Given the description of an element on the screen output the (x, y) to click on. 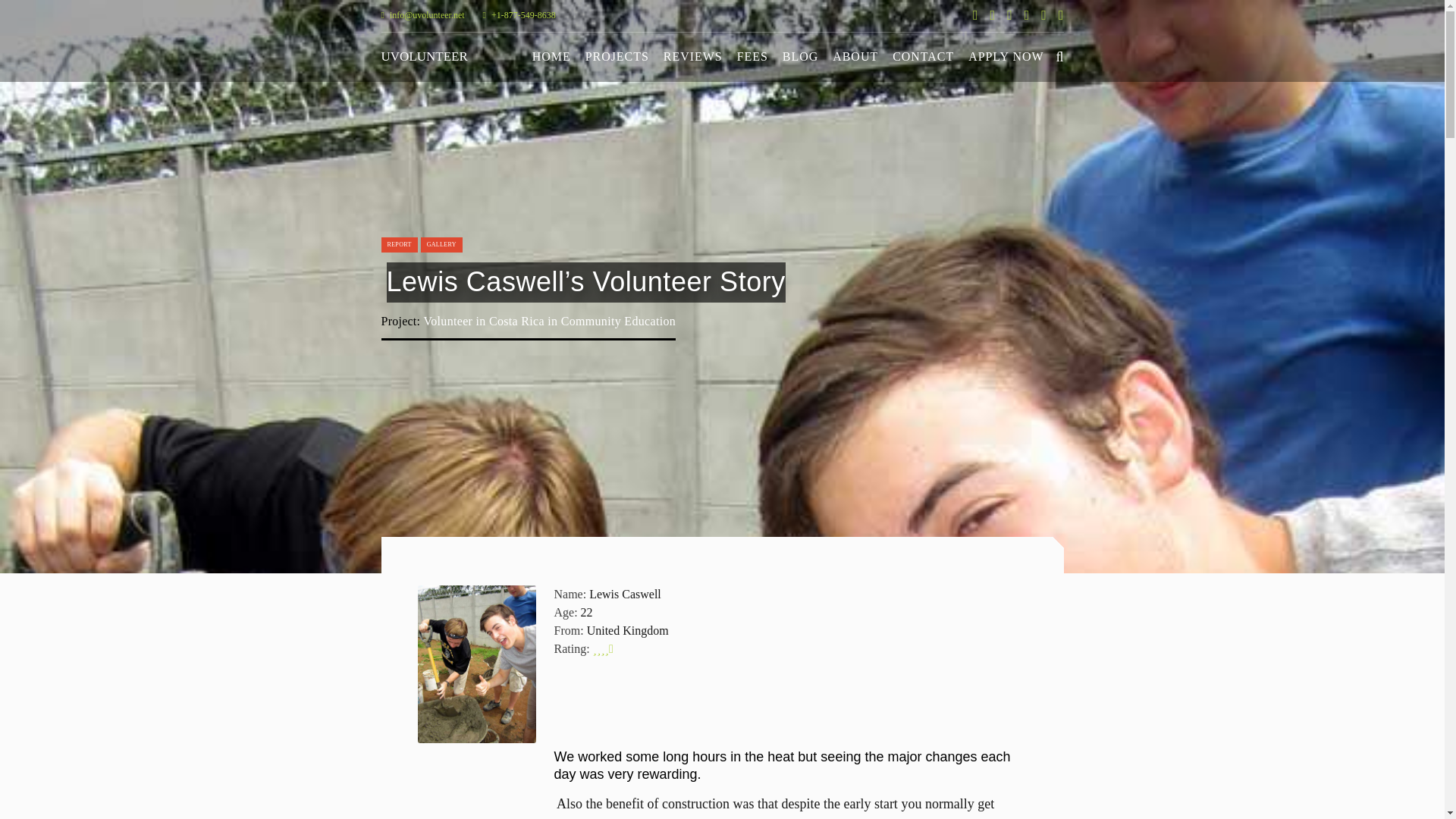
REPORT (398, 244)
REVIEWS (693, 56)
PROJECTS (617, 56)
APPLY NOW (1005, 56)
BLOG (800, 56)
GALLERY (441, 244)
Volunteer in Costa Rica in Community Education (549, 319)
Volunteer in Costa Rica in Community Education (549, 319)
HOME (550, 56)
FEES (752, 56)
CONTACT (922, 56)
ABOUT (855, 56)
